Given the description of an element on the screen output the (x, y) to click on. 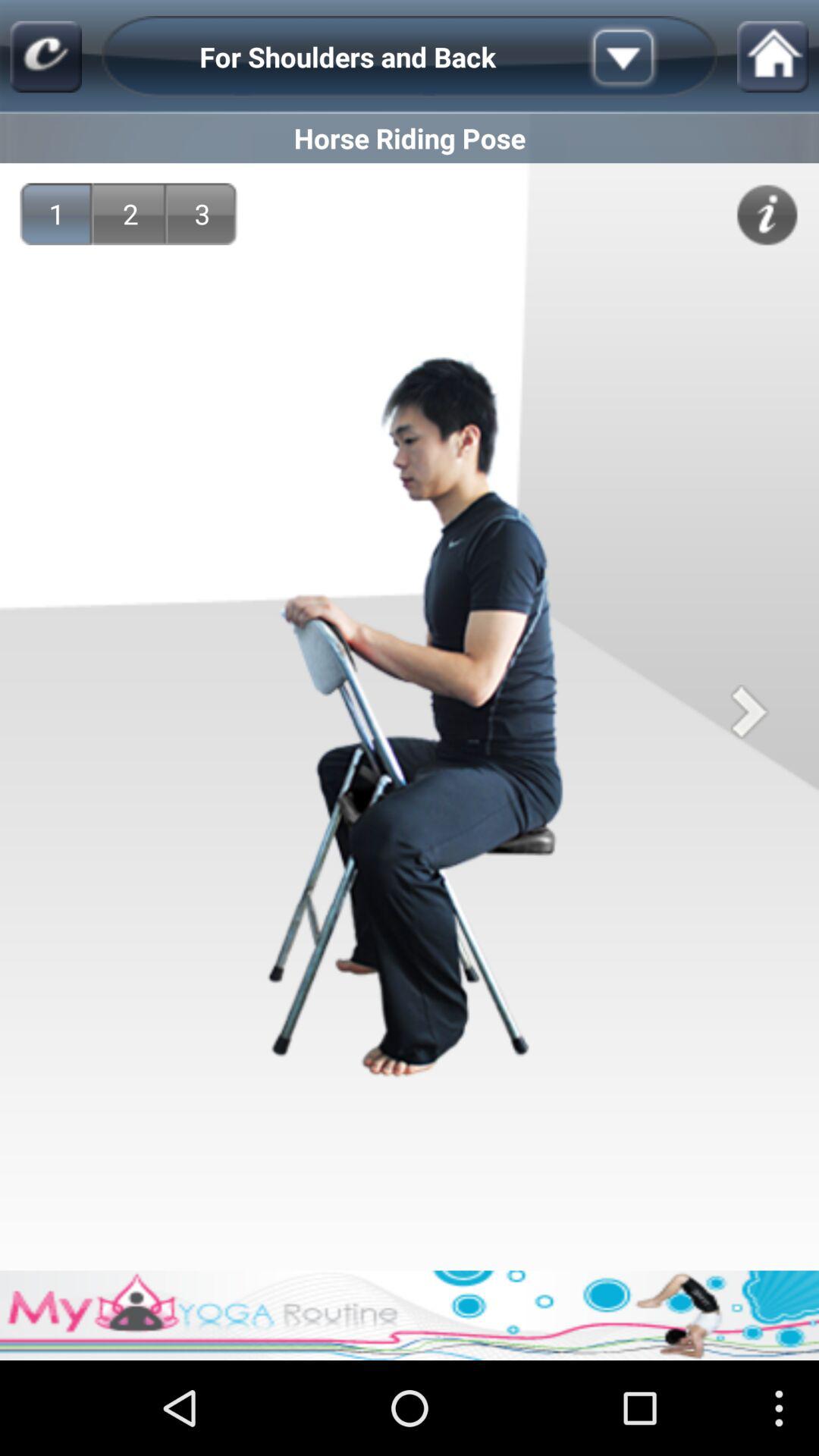
open the list of activites (646, 56)
